Given the description of an element on the screen output the (x, y) to click on. 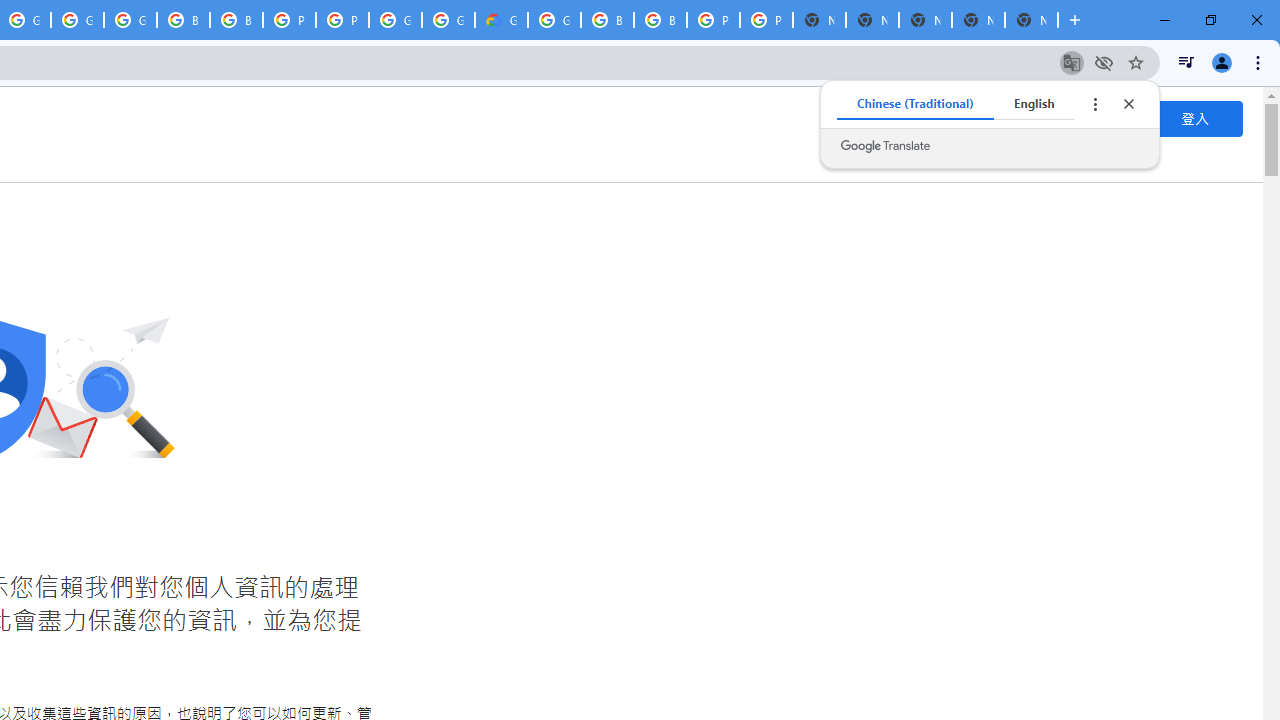
Google Cloud Platform (448, 20)
Google Cloud Estimate Summary (501, 20)
Translate this page (1071, 62)
Browse Chrome as a guest - Computer - Google Chrome Help (660, 20)
Google Cloud Platform (554, 20)
Control your music, videos, and more (1185, 62)
Browse Chrome as a guest - Computer - Google Chrome Help (235, 20)
Browse Chrome as a guest - Computer - Google Chrome Help (607, 20)
Browse Chrome as a guest - Computer - Google Chrome Help (183, 20)
English (1034, 103)
New Tab (1031, 20)
Chinese (Traditional) (915, 103)
